Given the description of an element on the screen output the (x, y) to click on. 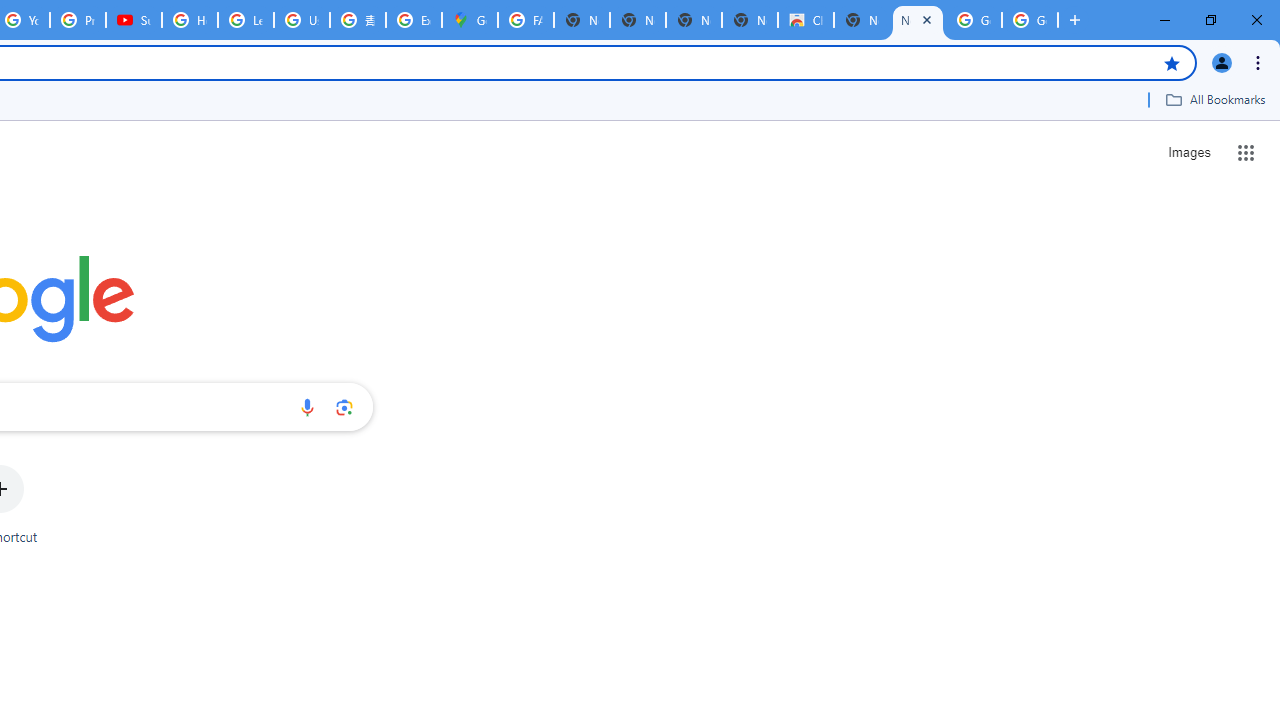
Google Maps (469, 20)
Google Images (973, 20)
Subscriptions - YouTube (134, 20)
Explore new street-level details - Google Maps Help (413, 20)
